Given the description of an element on the screen output the (x, y) to click on. 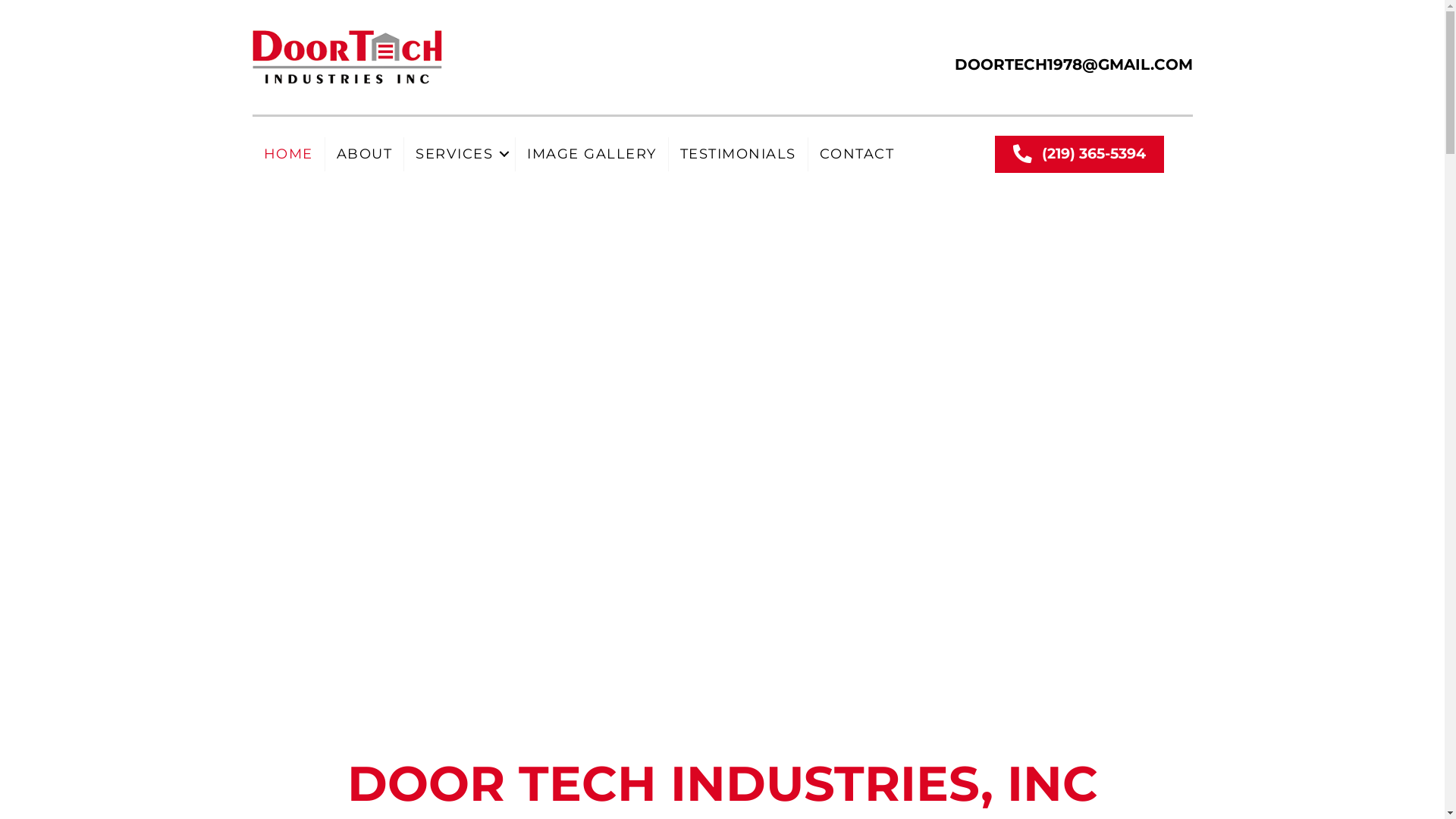
ABOUT Element type: text (363, 154)
CONTACT Element type: text (857, 154)
(219) 365-5394 Element type: text (1079, 153)
door tech color logo Element type: hover (346, 57)
HOME Element type: text (287, 154)
IMAGE GALLERY Element type: text (591, 154)
DOORTECH1978@GMAIL.COM Element type: text (1072, 64)
TESTIMONIALS Element type: text (737, 154)
SERVICES Element type: text (459, 154)
